Given the description of an element on the screen output the (x, y) to click on. 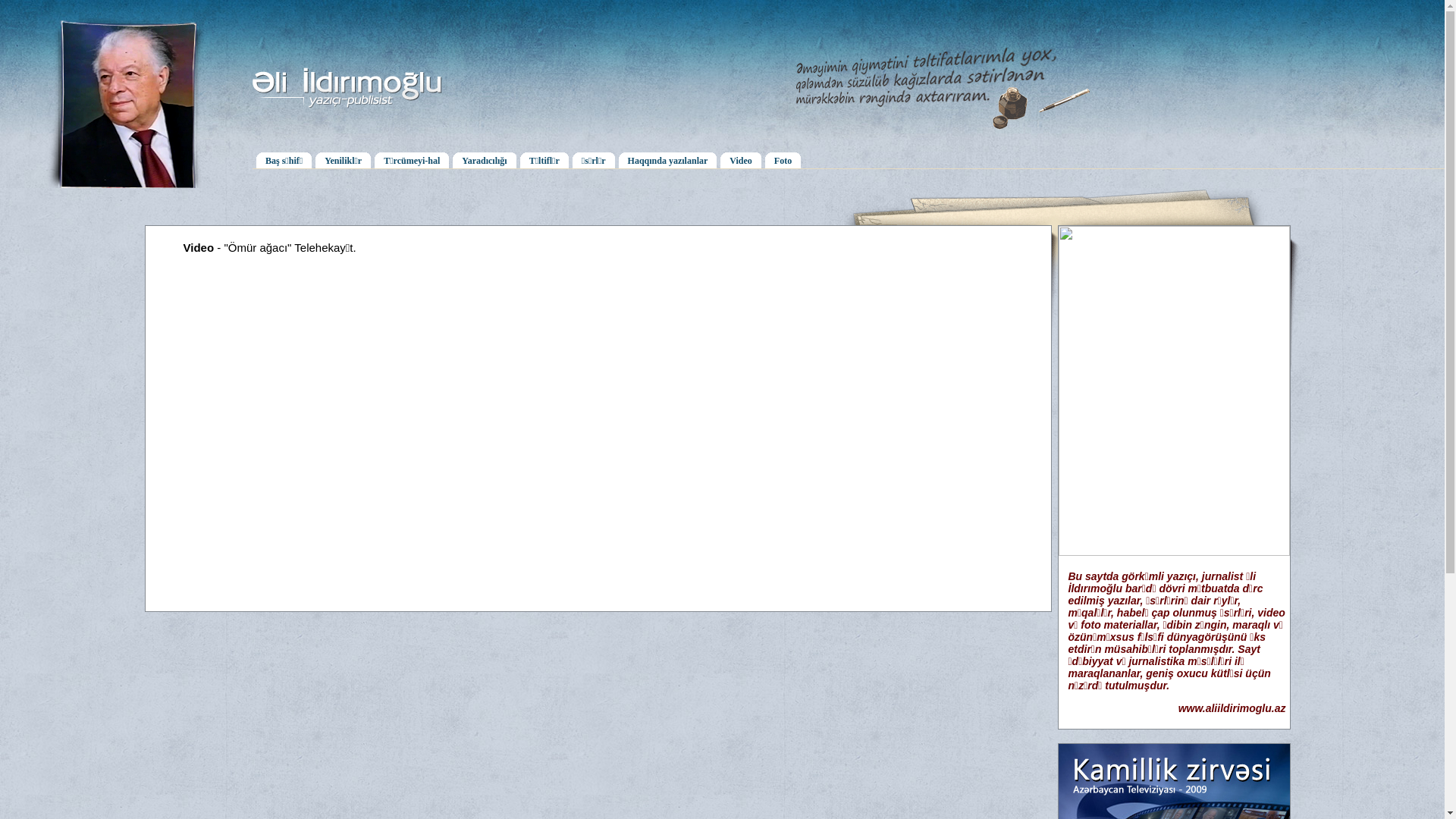
Video Element type: text (740, 159)
Foto Element type: text (782, 159)
